Given the description of an element on the screen output the (x, y) to click on. 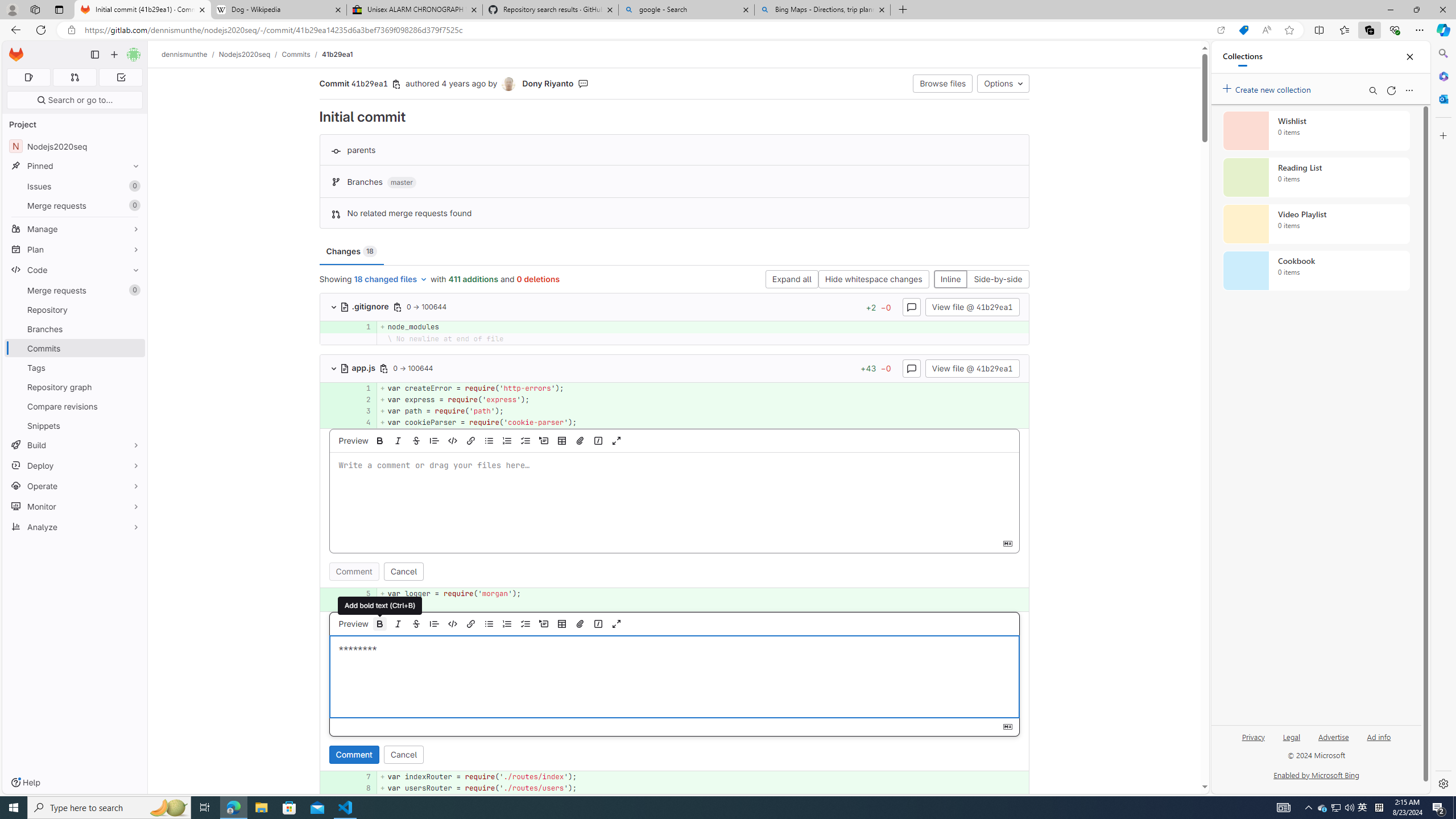
Deploy (74, 465)
Merge requests 0 (74, 76)
7 (362, 776)
Close tab (881, 9)
.gitignore  (365, 306)
41b29ea1 (337, 53)
Class: s16 gl-icon gl-button-icon  (1007, 726)
Add italic text (Ctrl+I) (397, 623)
Side-by-side (997, 279)
Advertise (1333, 736)
Repository (74, 309)
Create new... (113, 54)
App bar (728, 29)
Legal (1291, 736)
Create new collection (1268, 87)
